Given the description of an element on the screen output the (x, y) to click on. 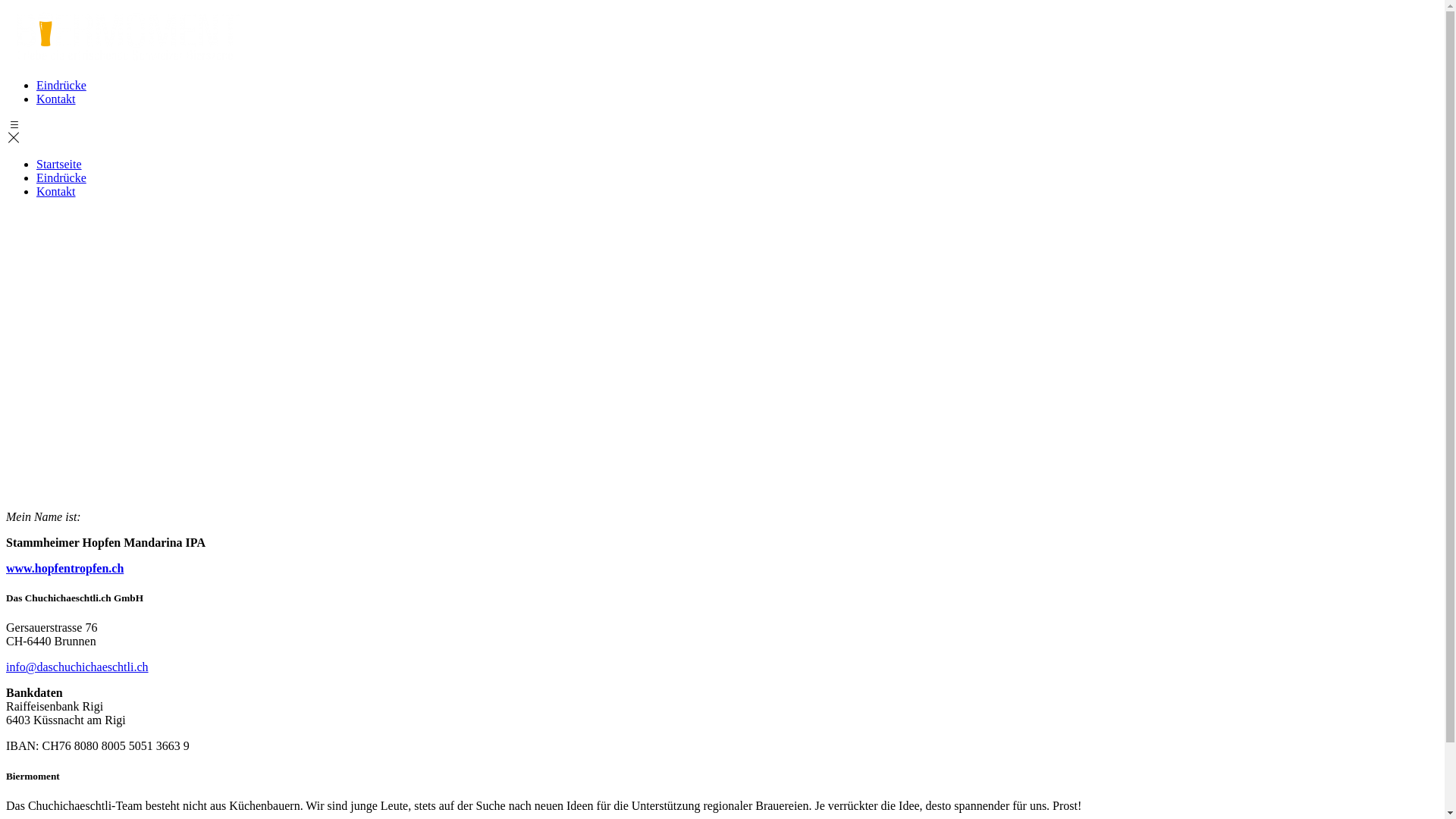
info@daschuchichaeschtli.ch Element type: text (77, 666)
Kontakt Element type: text (737, 98)
Kontakt Element type: text (55, 191)
www.hopfentropfen.ch Element type: text (64, 567)
1000 5003 04 Element type: hover (225, 352)
Startseite Element type: text (58, 163)
